Given the description of an element on the screen output the (x, y) to click on. 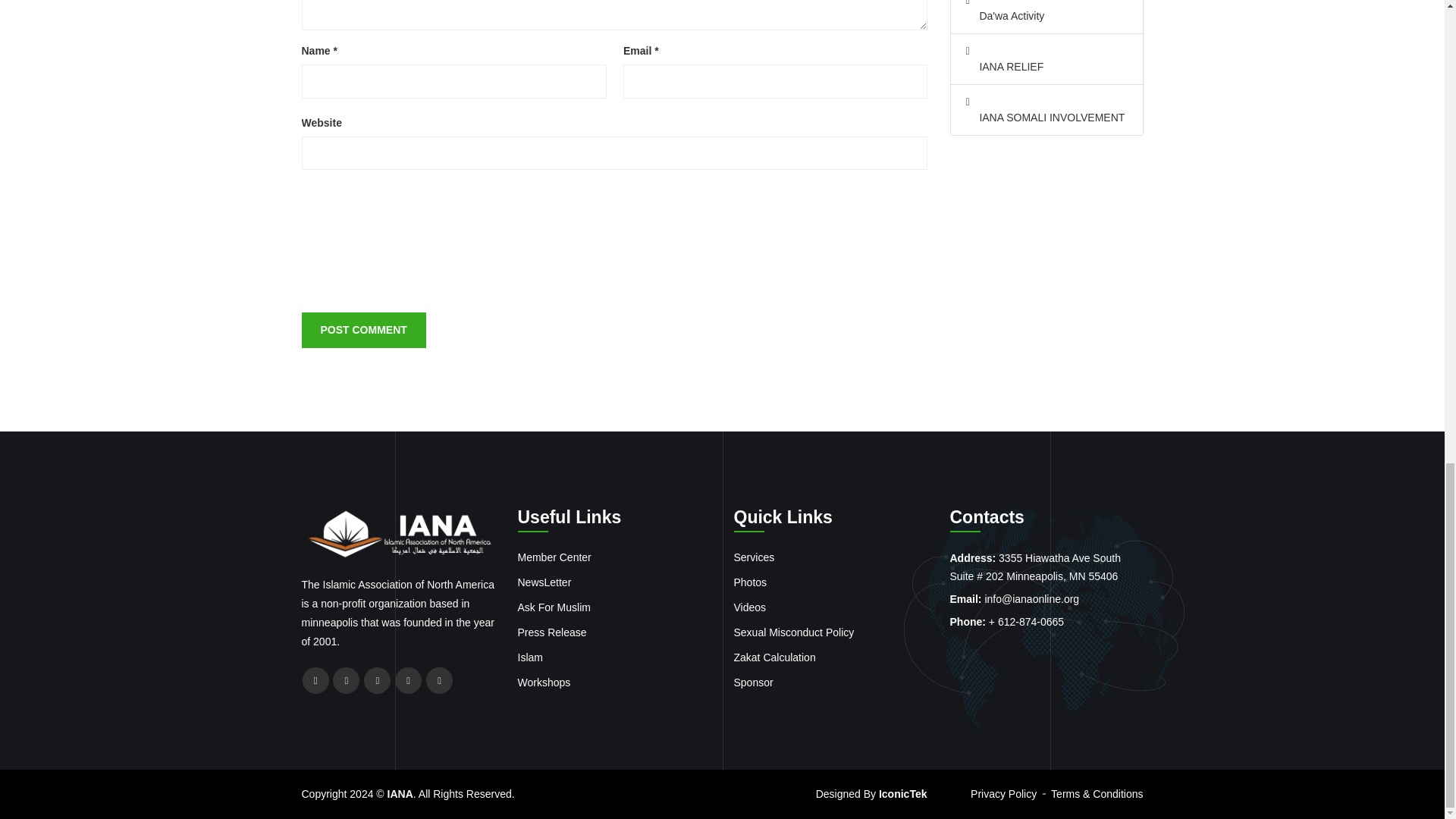
Videos (793, 632)
Post Comment (363, 329)
Photos (750, 582)
IANA SOMALI INVOLVEMENT (1046, 117)
Post Comment (363, 329)
Videos (750, 607)
Da'wa Activity (1046, 16)
IANA RELIEF (1046, 66)
Zakat (774, 657)
